Given the description of an element on the screen output the (x, y) to click on. 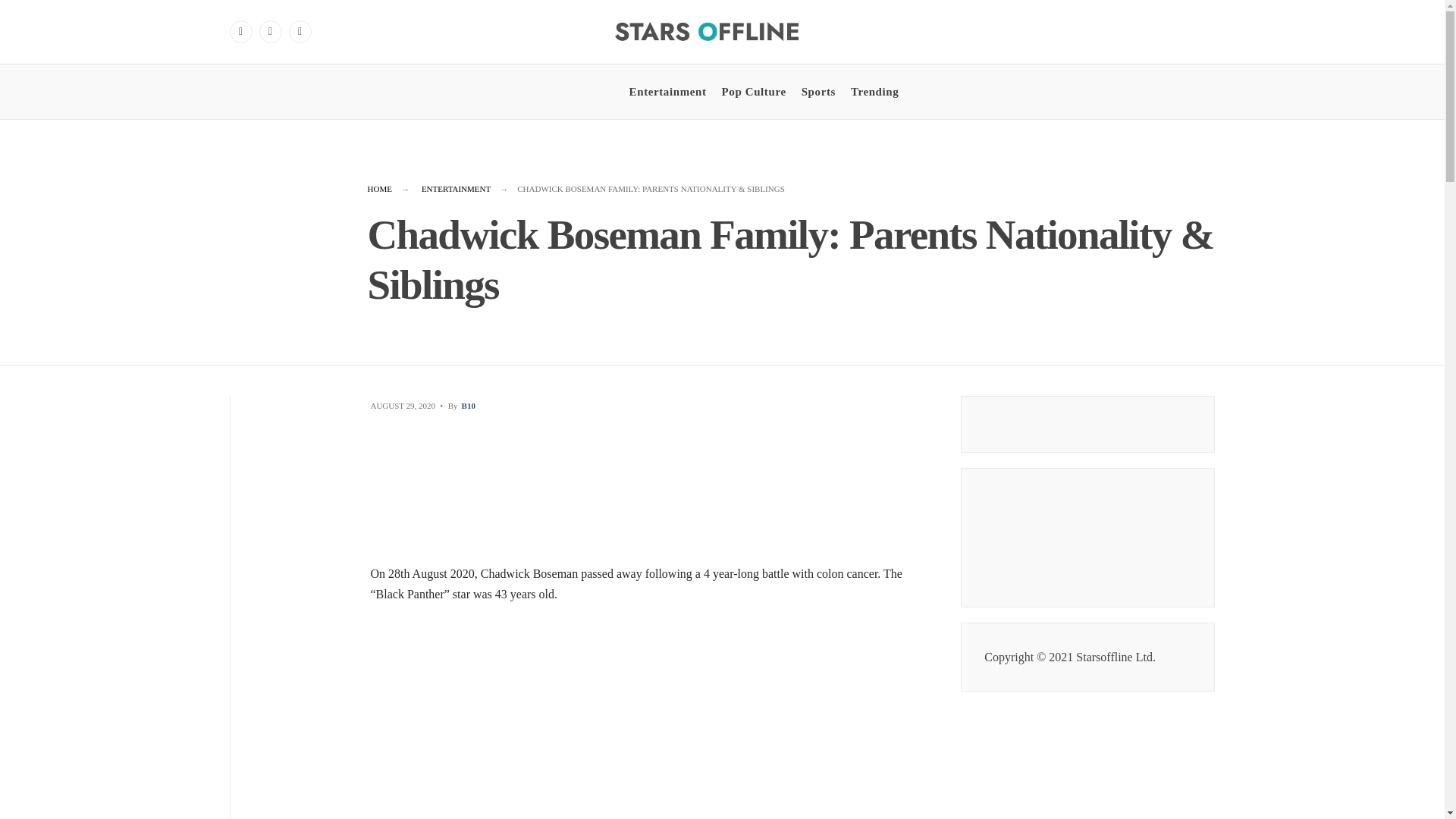
ENTERTAINMENT (456, 188)
Posts by B10 (468, 405)
Entertainment (667, 91)
Advertisement (650, 718)
HOME (378, 188)
Trending (874, 91)
B10 (468, 405)
Pinterest (299, 31)
Sports (818, 91)
Pop Culture (754, 91)
